Given the description of an element on the screen output the (x, y) to click on. 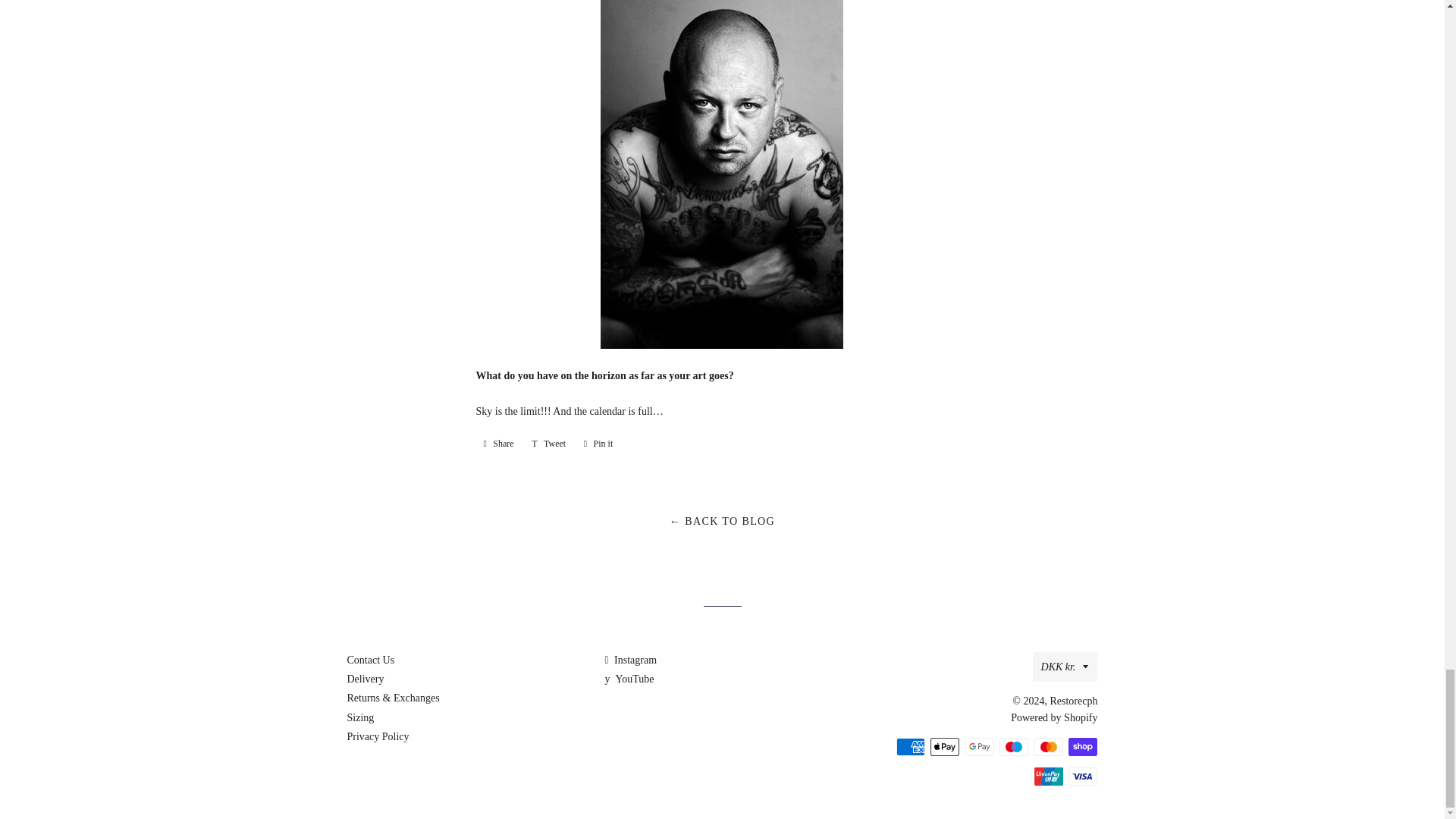
Apple Pay (944, 746)
Shop Pay (1082, 746)
Maestro (1012, 746)
Share on Facebook (498, 443)
Mastercard (1047, 746)
Restorecph on YouTube (628, 678)
Google Pay (979, 746)
Pin on Pinterest (598, 443)
Visa (1082, 776)
American Express (910, 746)
